Given the description of an element on the screen output the (x, y) to click on. 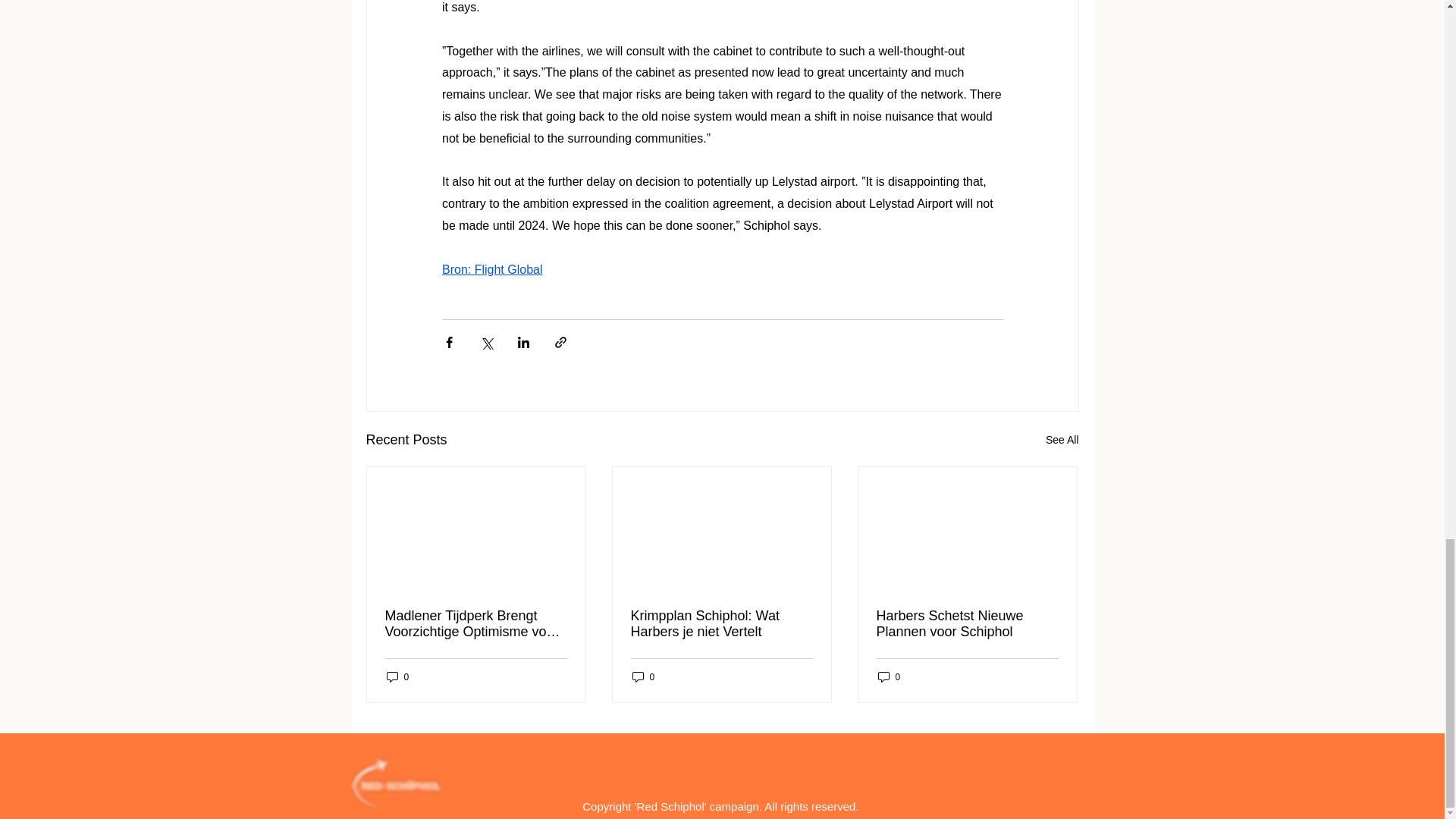
0 (397, 676)
Krimpplan Schiphol: Wat Harbers je niet Vertelt (721, 623)
Harbers Schetst Nieuwe Plannen voor Schiphol (967, 623)
0 (889, 676)
Bron: Flight Global (491, 269)
See All (1061, 440)
0 (643, 676)
